Given the description of an element on the screen output the (x, y) to click on. 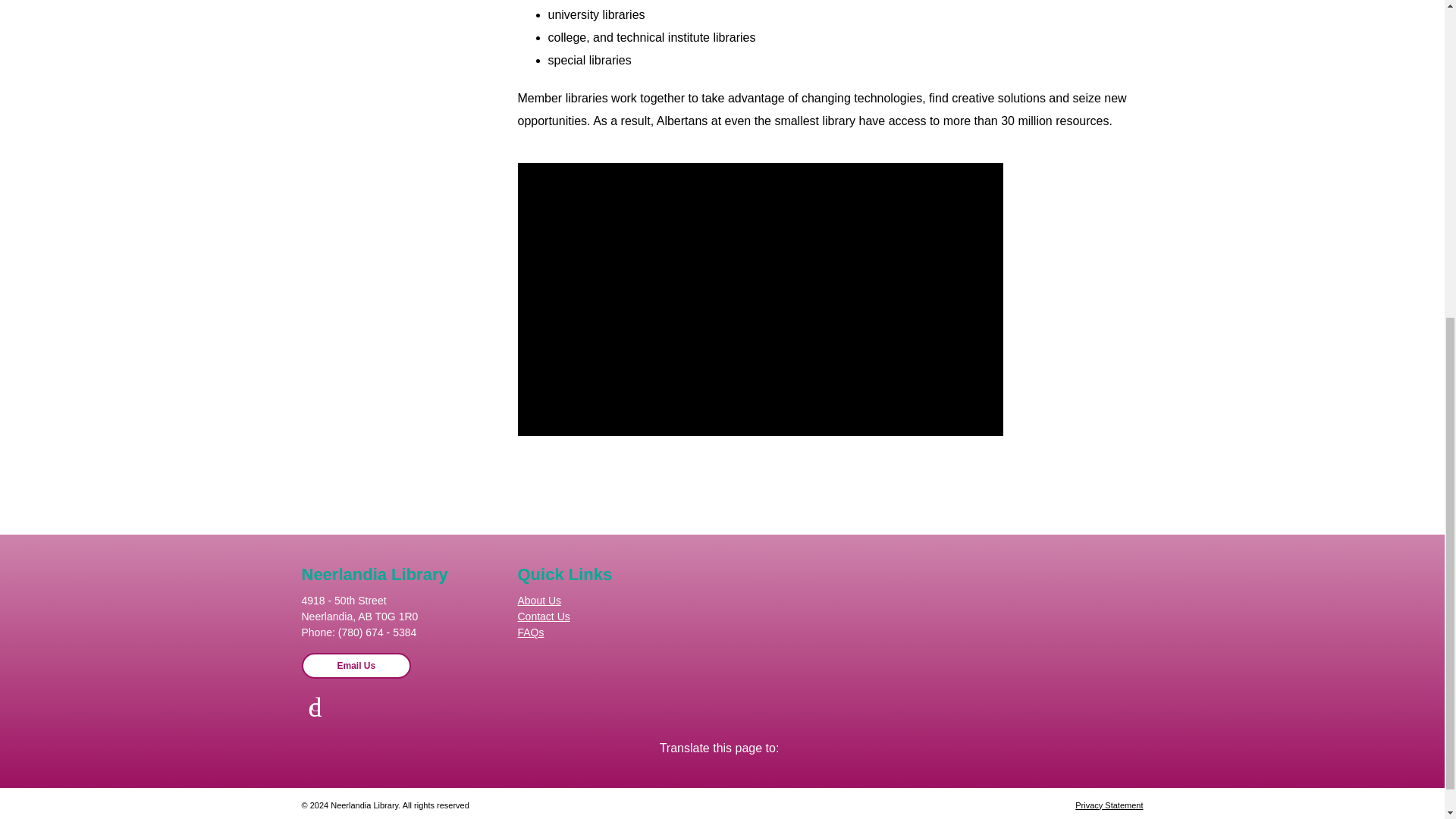
Facebook (315, 707)
